Given the description of an element on the screen output the (x, y) to click on. 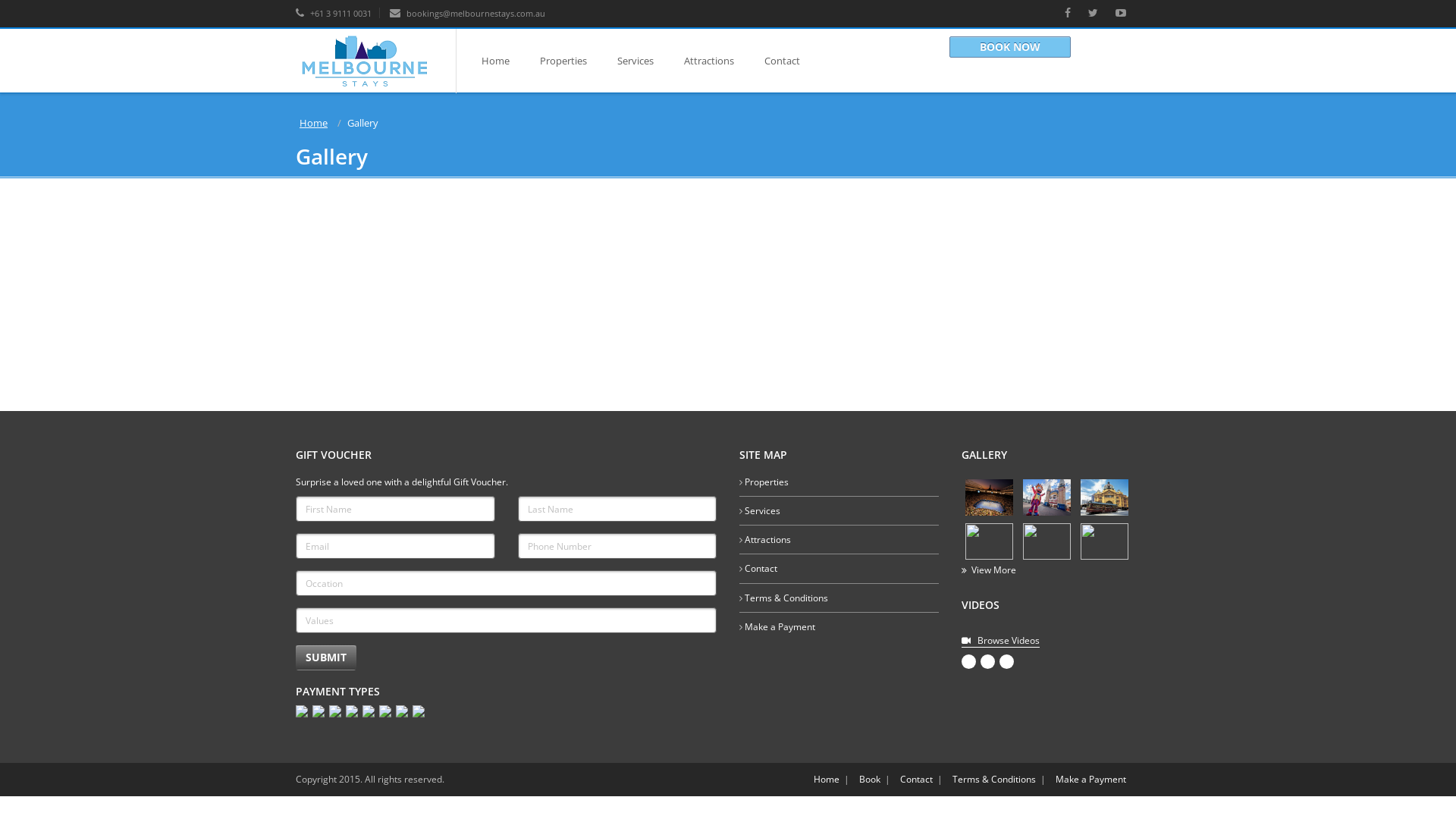
Attractions Element type: text (767, 539)
Attractions Element type: text (708, 60)
Home Element type: text (495, 60)
SUBMIT Element type: text (325, 657)
Services Element type: text (762, 510)
Properties Element type: text (766, 481)
Terms & Conditions Element type: text (786, 597)
Contact Element type: text (760, 567)
bookings@melbournestays.com.au Element type: text (467, 12)
  View More Element type: text (988, 569)
Home Element type: text (825, 777)
Properties Element type: text (563, 60)
Contact Element type: text (782, 60)
   Browse Videos Element type: text (1000, 640)
Book Element type: text (868, 777)
Contact Element type: text (915, 777)
Services Element type: text (635, 60)
Terms & Conditions Element type: text (993, 777)
+61 3 9111 0031 Element type: text (333, 12)
Home Element type: text (313, 122)
Make a Payment Element type: text (779, 626)
BOOK NOW Element type: text (1009, 46)
Make a Payment Element type: text (1090, 777)
